Given the description of an element on the screen output the (x, y) to click on. 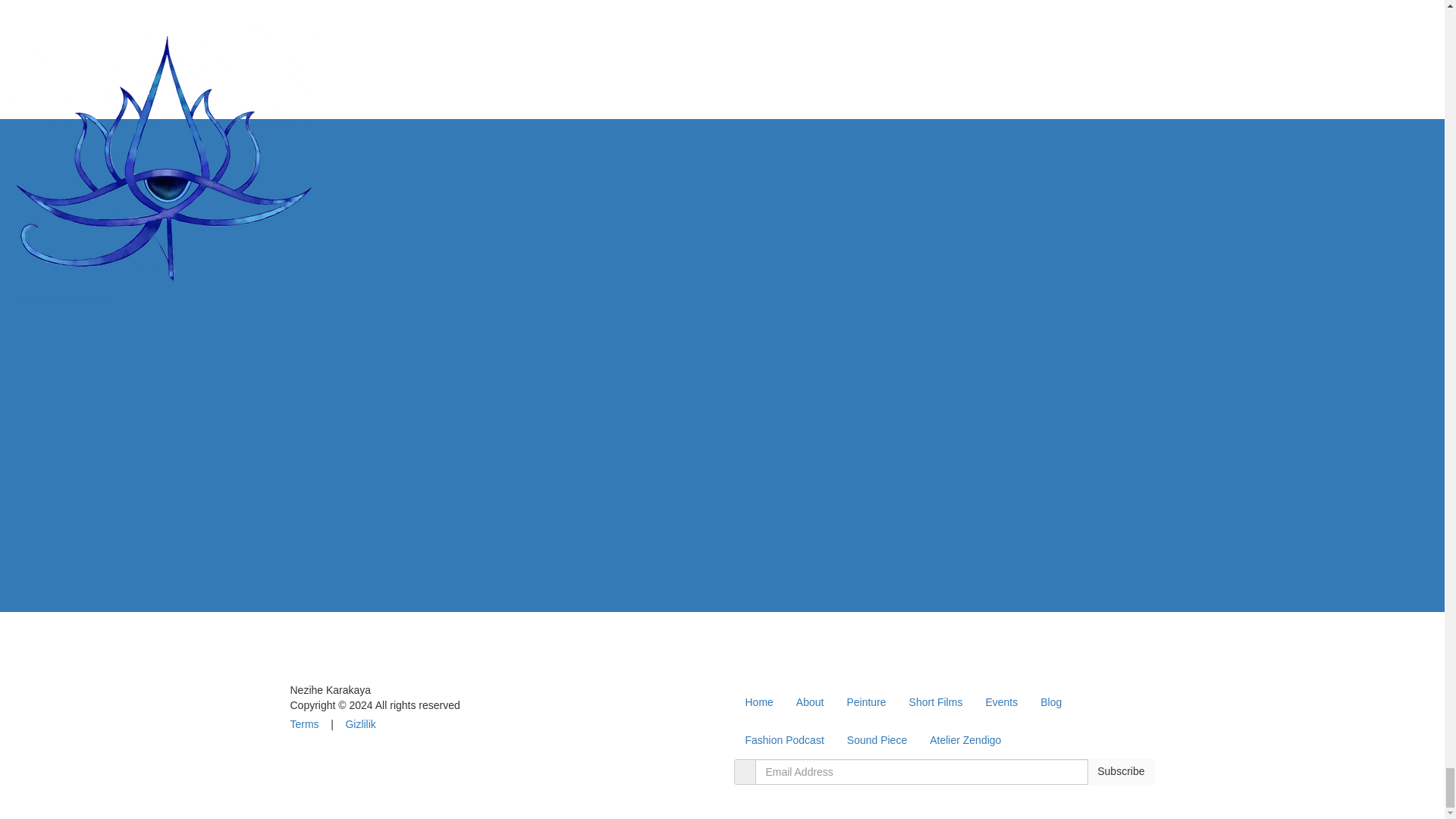
About (809, 702)
Sound Piece (876, 740)
Atelier Zendigo (964, 740)
Fashion Podcast (784, 740)
Short Films (936, 702)
Events (1001, 702)
Home (758, 702)
Blog (1051, 702)
Peinture (865, 702)
